Given the description of an element on the screen output the (x, y) to click on. 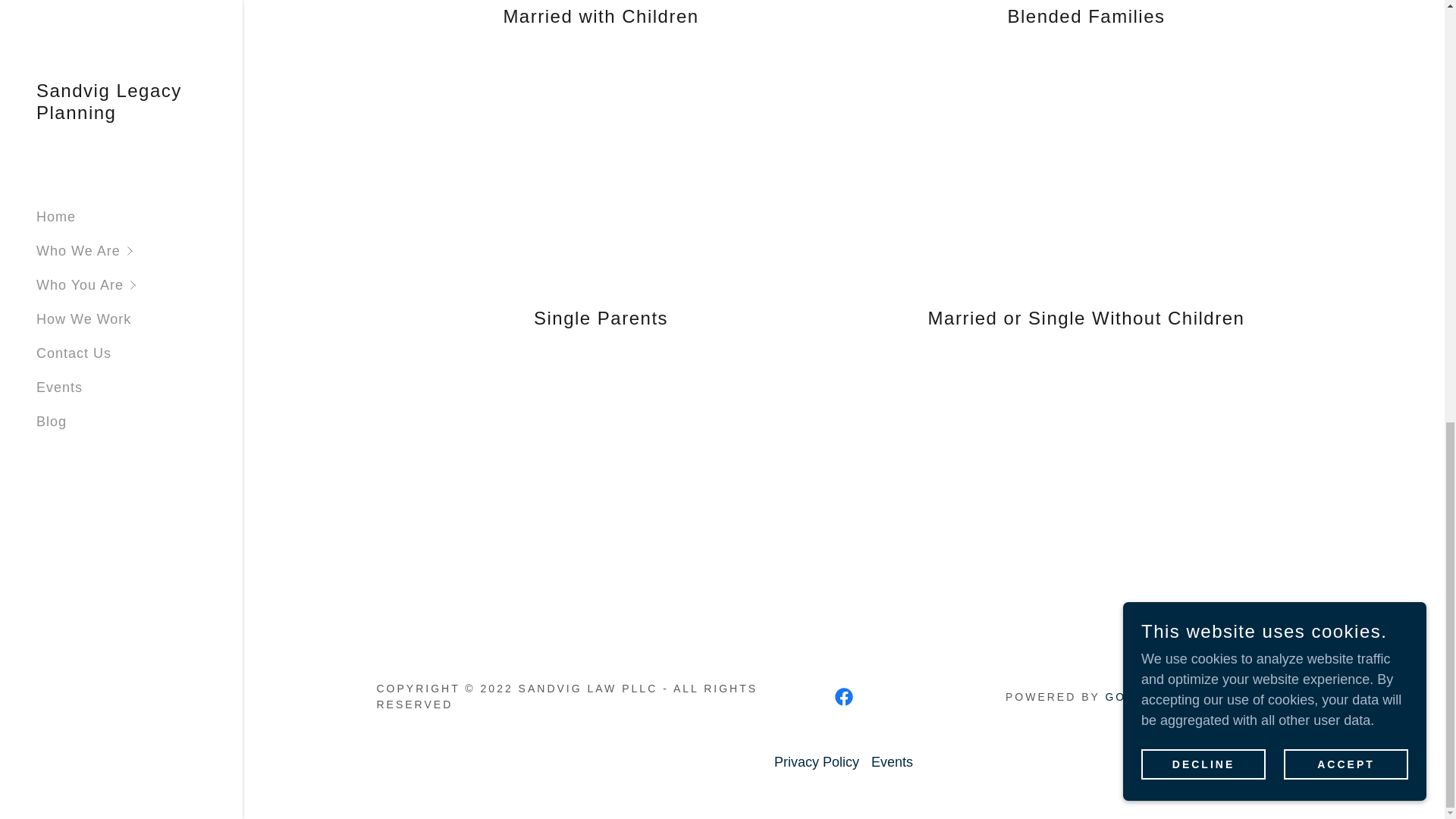
Privacy Policy (816, 762)
GODADDY (1139, 696)
Events (891, 762)
